Given the description of an element on the screen output the (x, y) to click on. 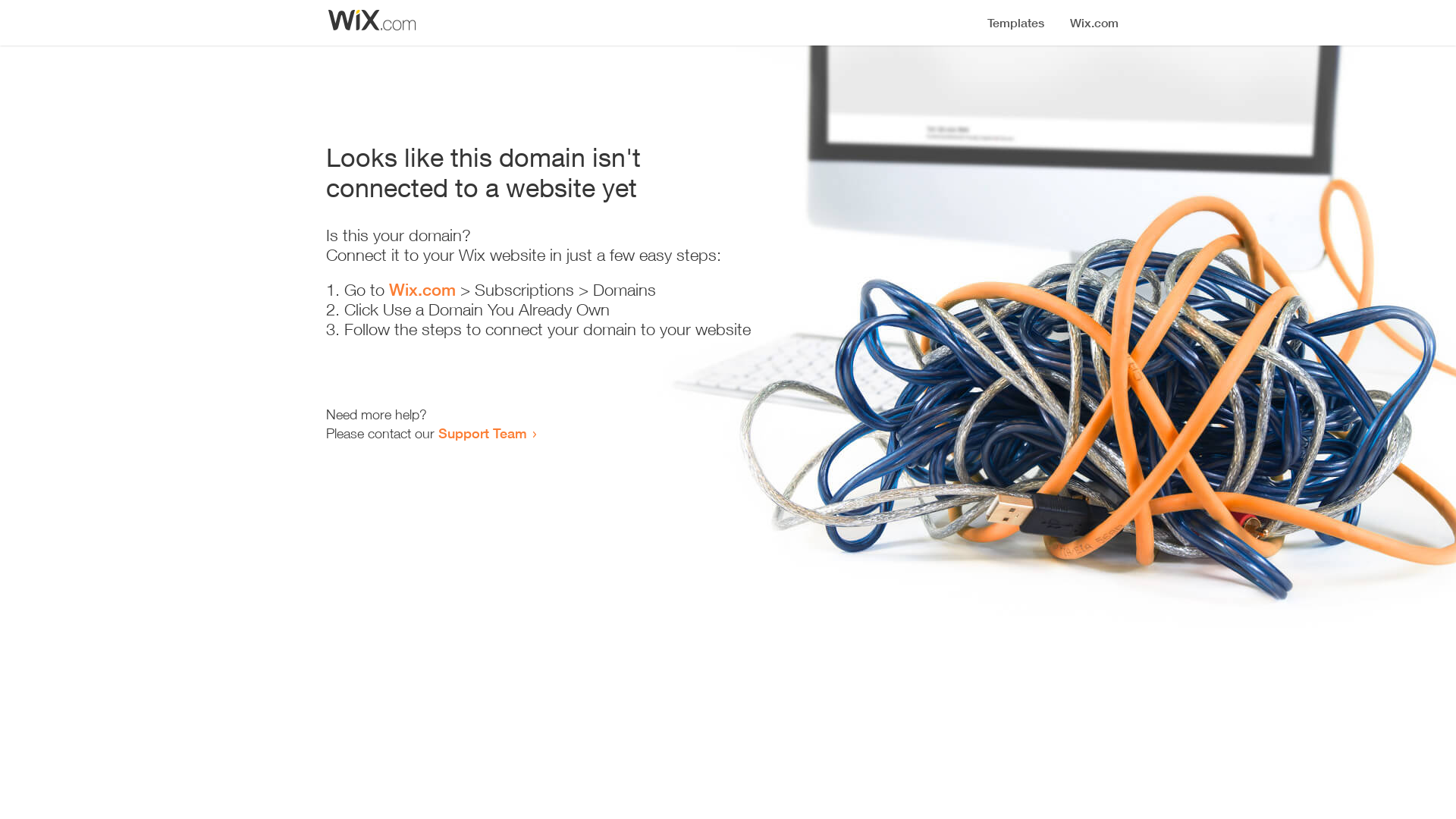
Support Team Element type: text (482, 432)
Wix.com Element type: text (422, 289)
